Given the description of an element on the screen output the (x, y) to click on. 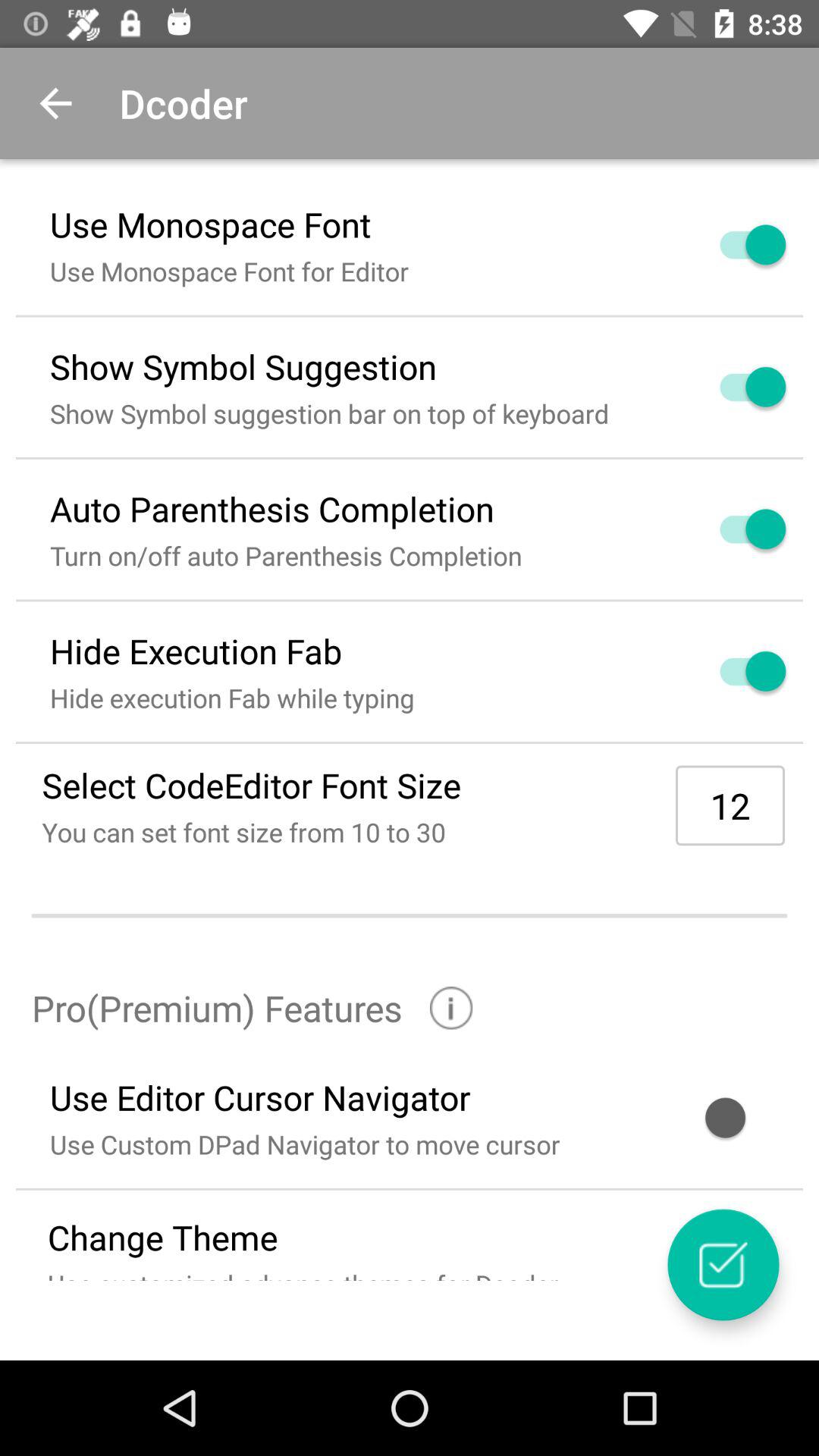
choose item next to use customized advance (723, 1264)
